Given the description of an element on the screen output the (x, y) to click on. 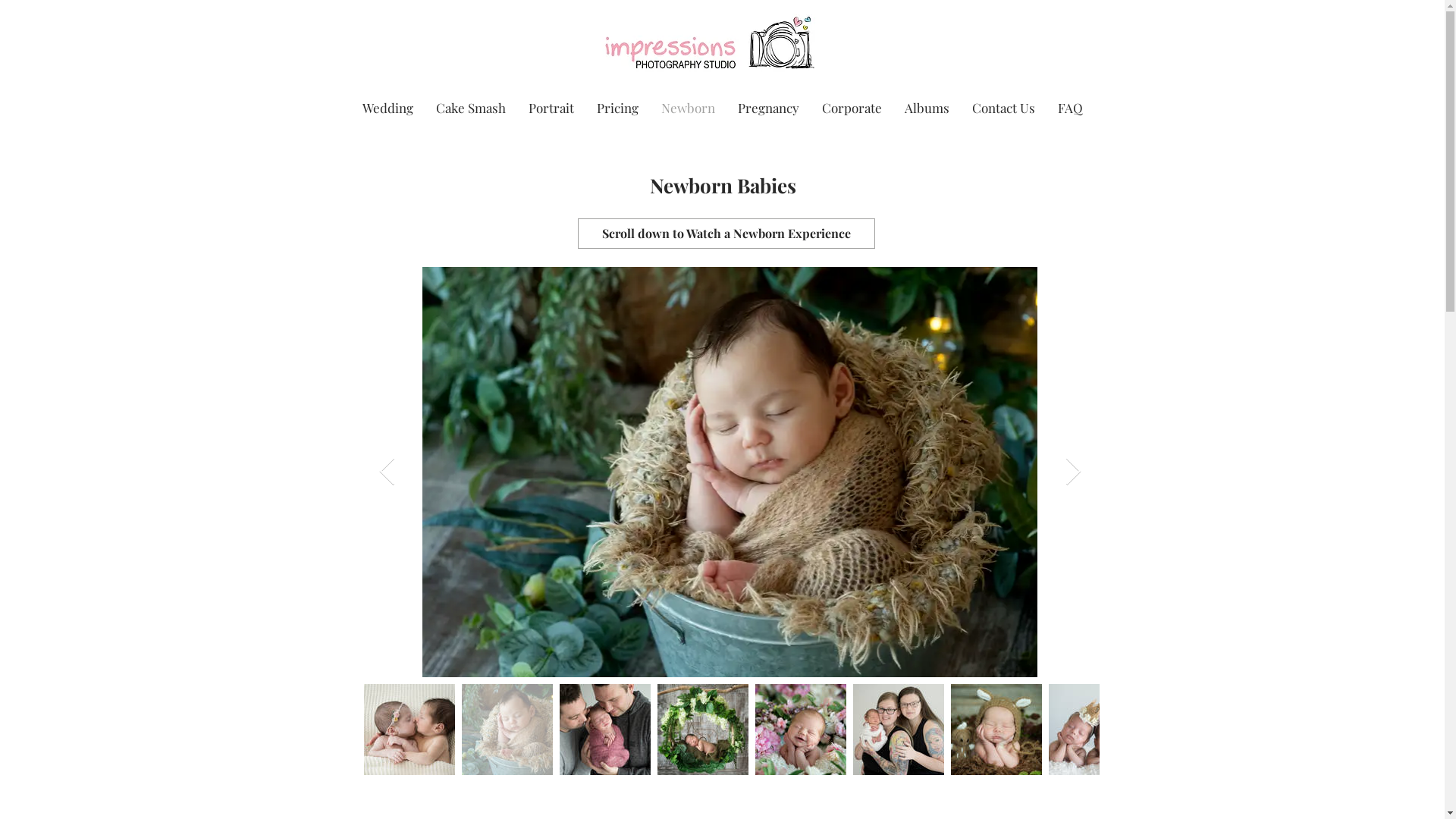
Wedding Element type: text (386, 107)
Pregnancy Element type: text (768, 107)
Scroll down to Watch a Newborn Experience Element type: text (726, 233)
Portrait Element type: text (551, 107)
Corporate Element type: text (850, 107)
Newborn Element type: text (687, 107)
Albums Element type: text (926, 107)
Cake Smash Element type: text (470, 107)
Contact Us Element type: text (1002, 107)
FAQ Element type: text (1070, 107)
Pricing Element type: text (617, 107)
